Given the description of an element on the screen output the (x, y) to click on. 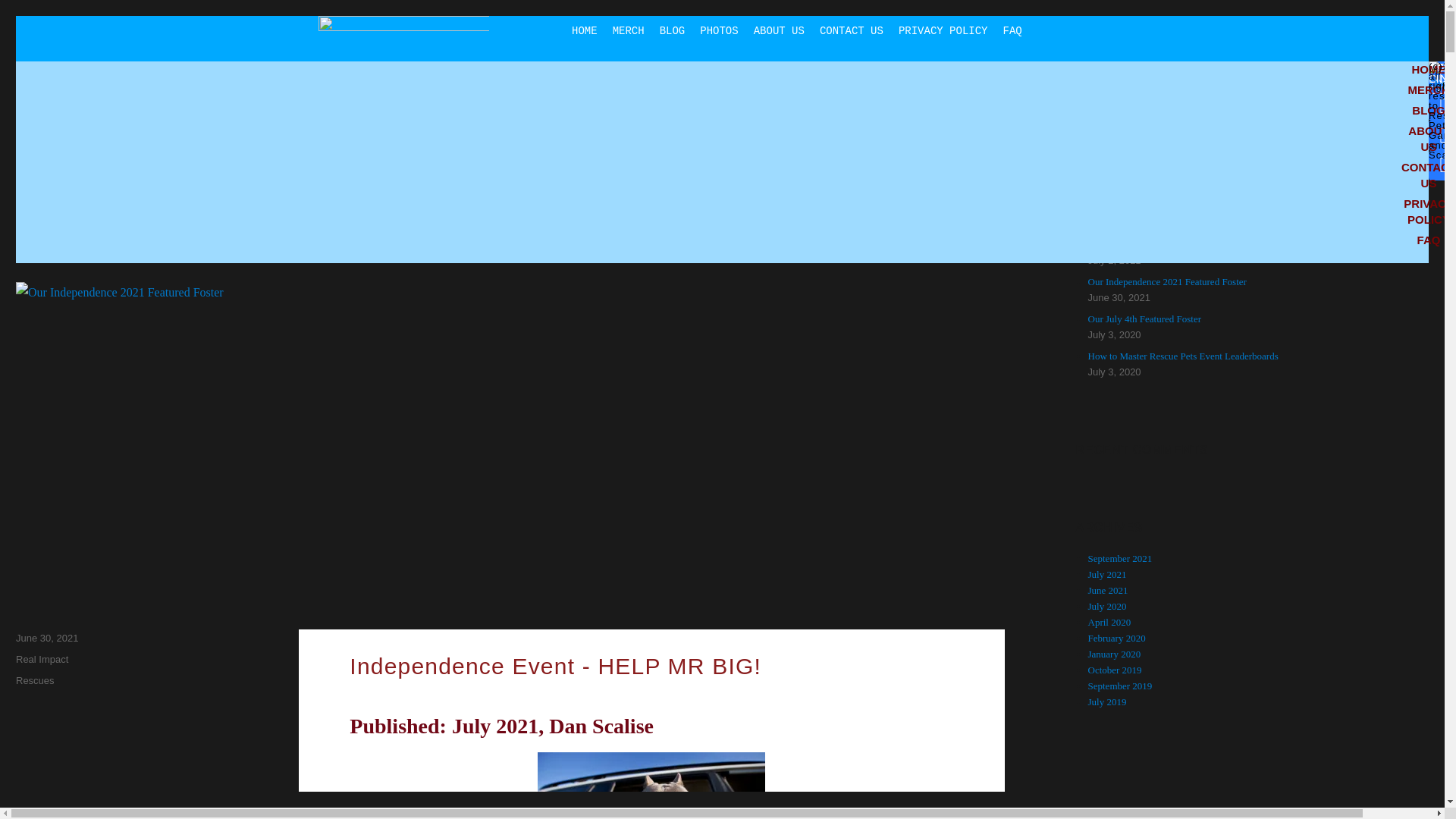
FAQ (1012, 30)
ABOUT US (778, 30)
PRIVACY POLICY (943, 30)
HOME (584, 30)
Rescues (35, 680)
MERCH (628, 30)
PHOTOS (719, 30)
Real Impact (42, 659)
Our Independence 2021 Featured Foster (305, 188)
CONTACT US (851, 30)
BLOG (672, 30)
June 30, 2021 (47, 637)
